Given the description of an element on the screen output the (x, y) to click on. 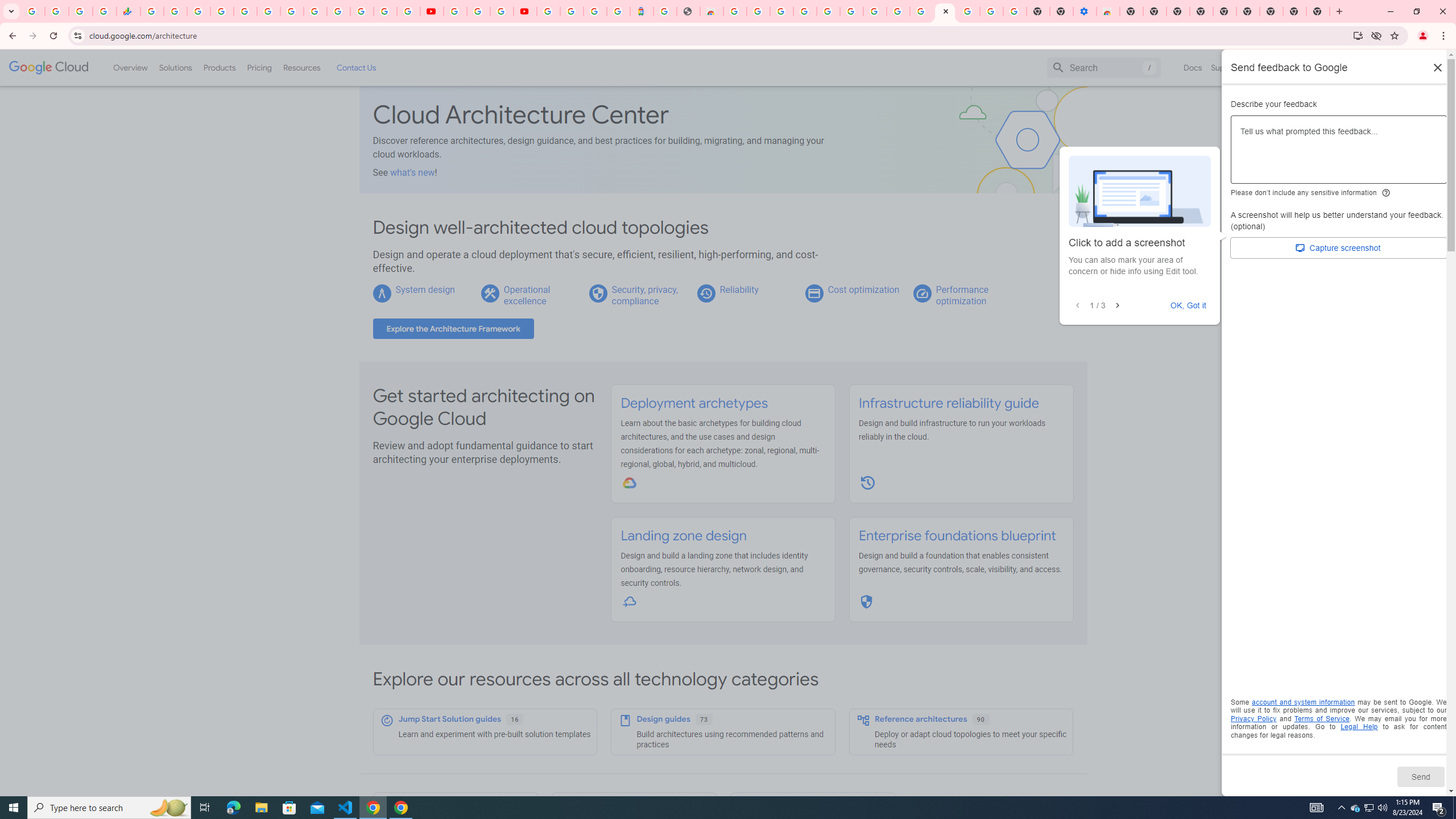
Ad Settings (804, 11)
Browse the Google Chrome Community - Google Chrome Community (921, 11)
Opens in a new tab. Legal Help (1358, 727)
New Tab (1318, 11)
Install Google Cloud (1358, 35)
Describe your feedback (1338, 153)
Sign in - Google Accounts (968, 11)
Landing zone design (683, 535)
Google Account Help (478, 11)
